Given the description of an element on the screen output the (x, y) to click on. 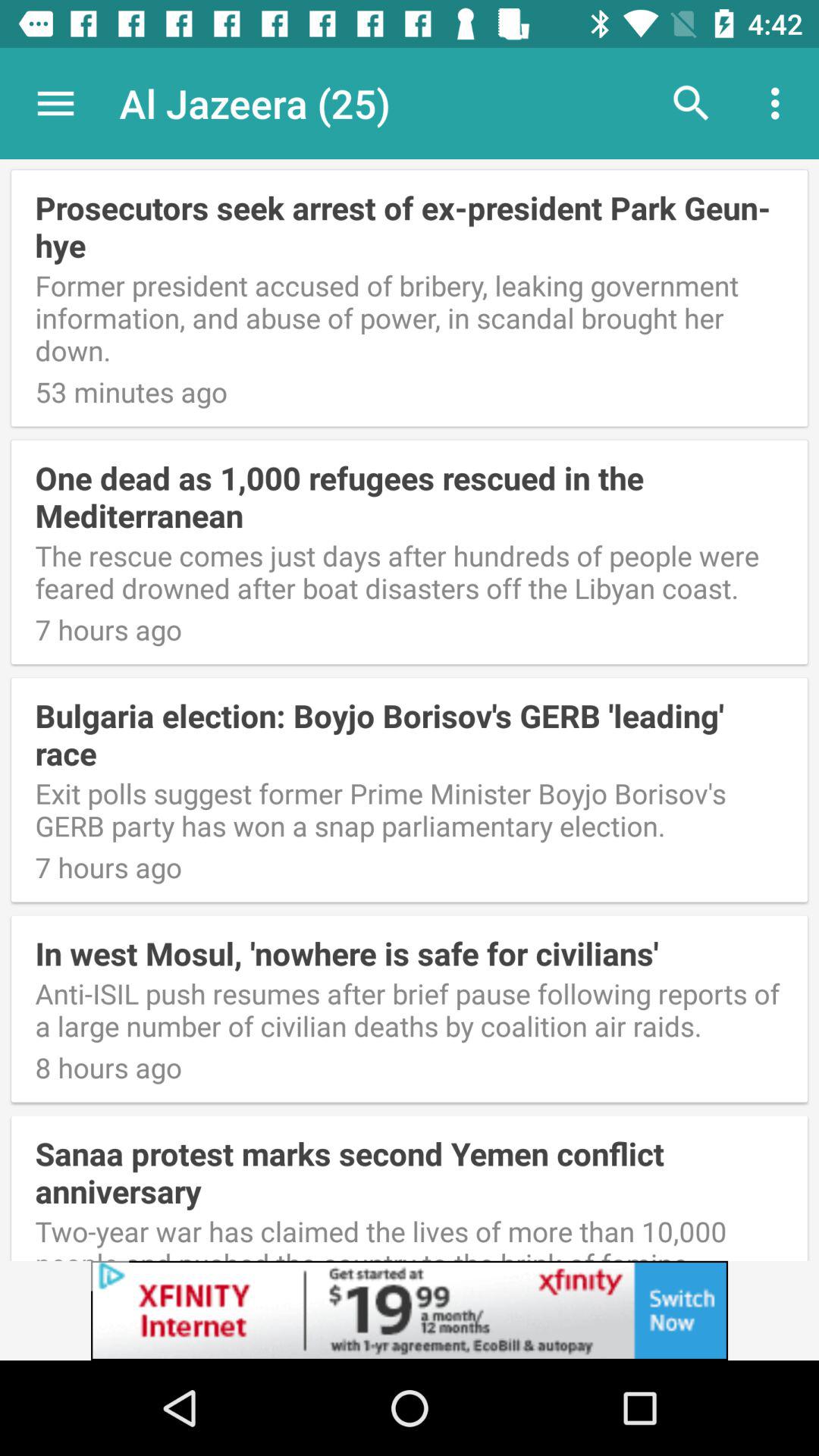
tap the item to the right of al jazeera (25) (691, 103)
